Given the description of an element on the screen output the (x, y) to click on. 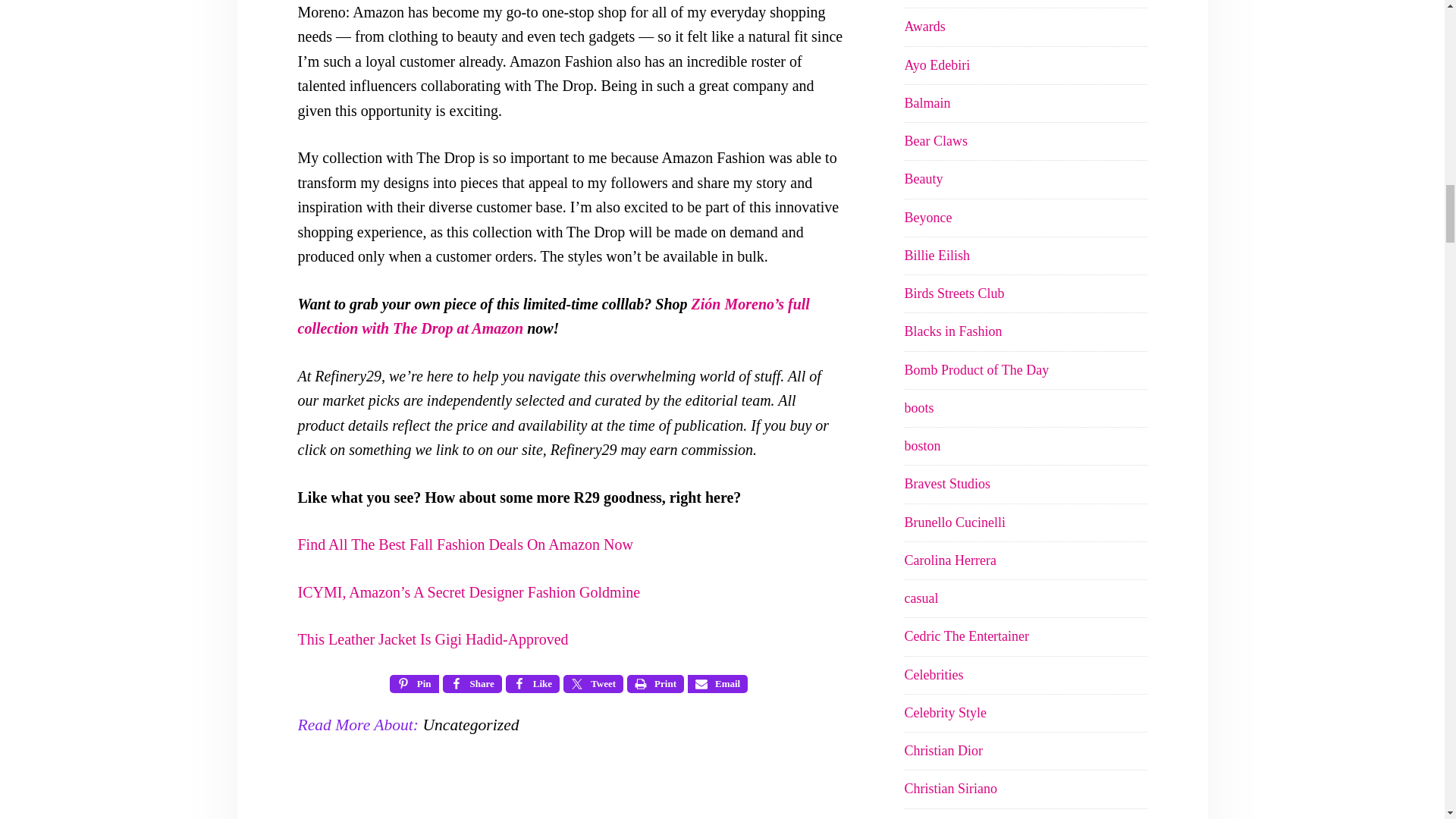
This Leather Jacket Is Gigi Hadid-Approved (432, 638)
Share on Facebook (472, 683)
Like (532, 683)
Print this Page (655, 683)
Share (472, 683)
Like on Facebook (532, 683)
Pin (414, 683)
Share on Pinterest (414, 683)
Email (717, 683)
Find All The Best Fall Fashion Deals On Amazon Now (464, 544)
Share via Email (717, 683)
Share on Twitter (593, 683)
